Given the description of an element on the screen output the (x, y) to click on. 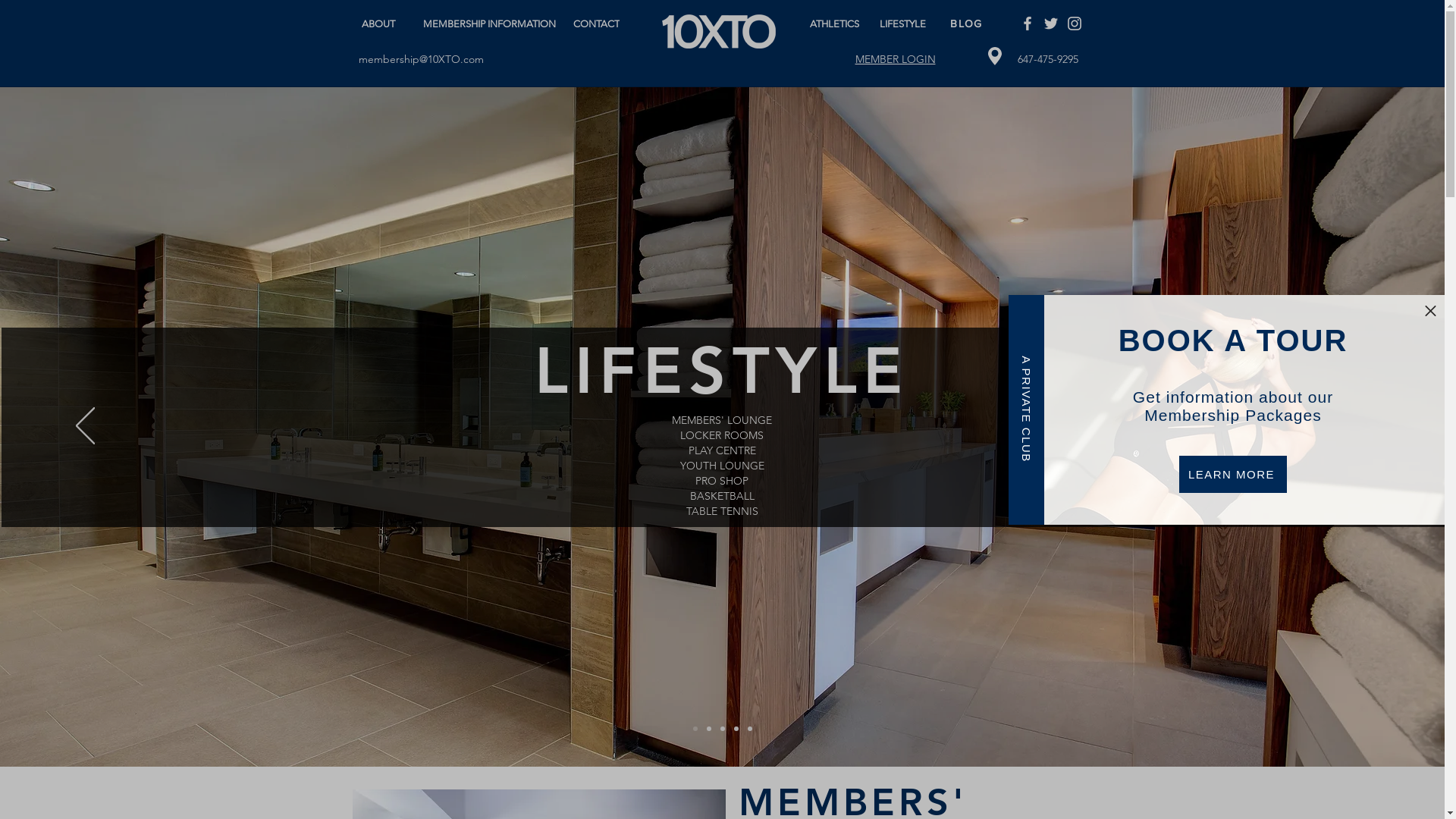
MEMBERSHIP INFORMATION Element type: text (492, 17)
BASKETBALL Element type: text (722, 496)
Back to site Element type: hover (1430, 309)
LIFESTYLE Element type: text (903, 23)
PRO SHOP Element type: text (722, 481)
LOCKER ROOMS Element type: text (722, 435)
MEMBERS' LOUNGE Element type: text (722, 419)
membership@10XTO.com Element type: text (420, 59)
647-475-9295 Element type: text (1047, 59)
LEARN MORE Element type: text (1232, 473)
MEMBER LOGIN Element type: text (895, 59)
BLOG Element type: text (967, 23)
ATHLETICS Element type: text (835, 23)
ABOUT Element type: text (380, 17)
CONTACT Element type: text (597, 23)
TABLE TENNIS Element type: text (722, 511)
YOUTH LOUNGE Element type: text (722, 465)
PLAY CENTRE Element type: text (722, 450)
